Given the description of an element on the screen output the (x, y) to click on. 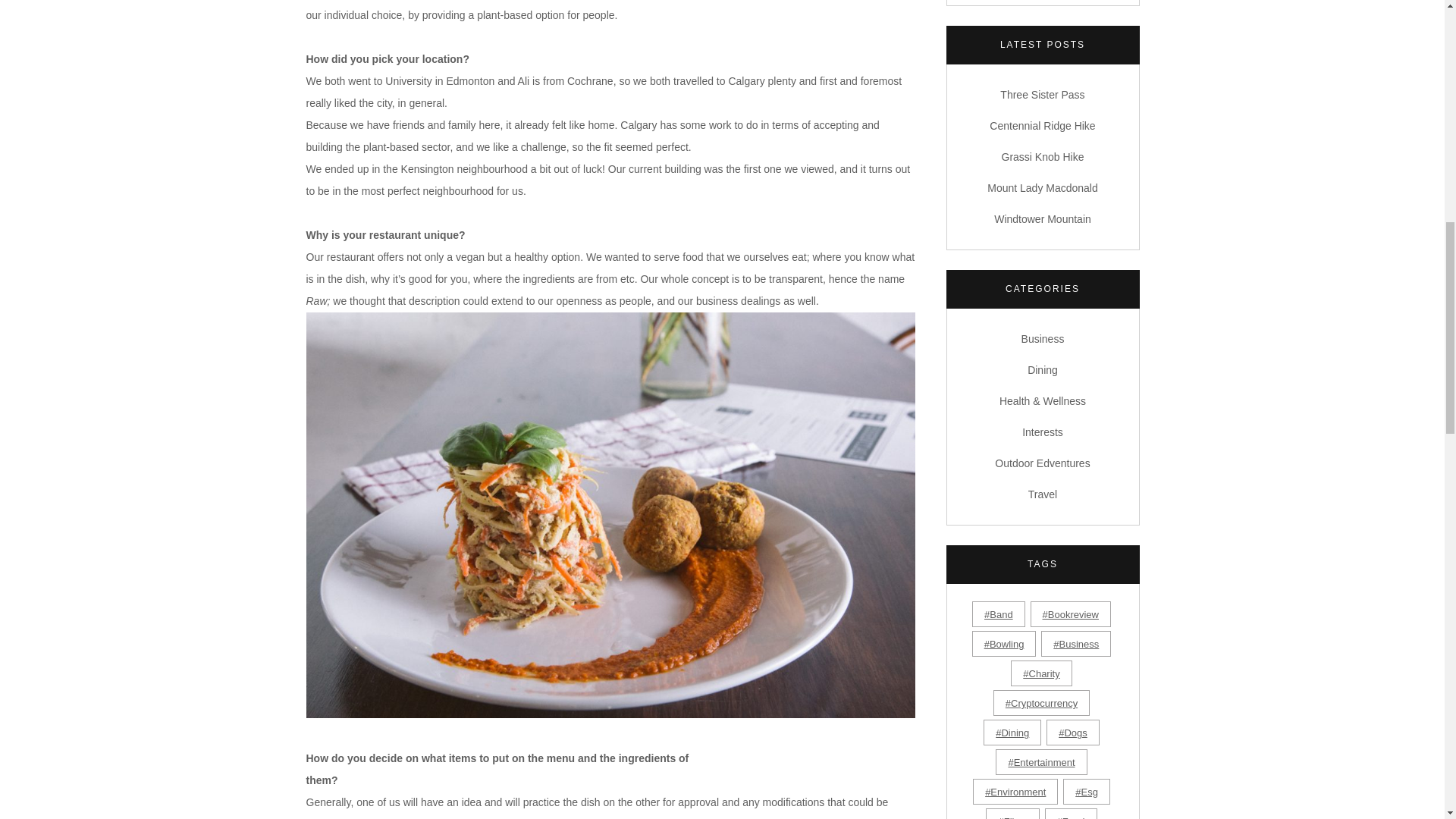
Centennial Ridge Hike (1042, 125)
Mount Lady Macdonald (1042, 187)
Grassi Knob Hike (1042, 156)
Three Sister Pass (1042, 94)
Business (1043, 338)
Windtower Mountain (1042, 218)
Interests (1042, 431)
Dining (1042, 369)
